Given the description of an element on the screen output the (x, y) to click on. 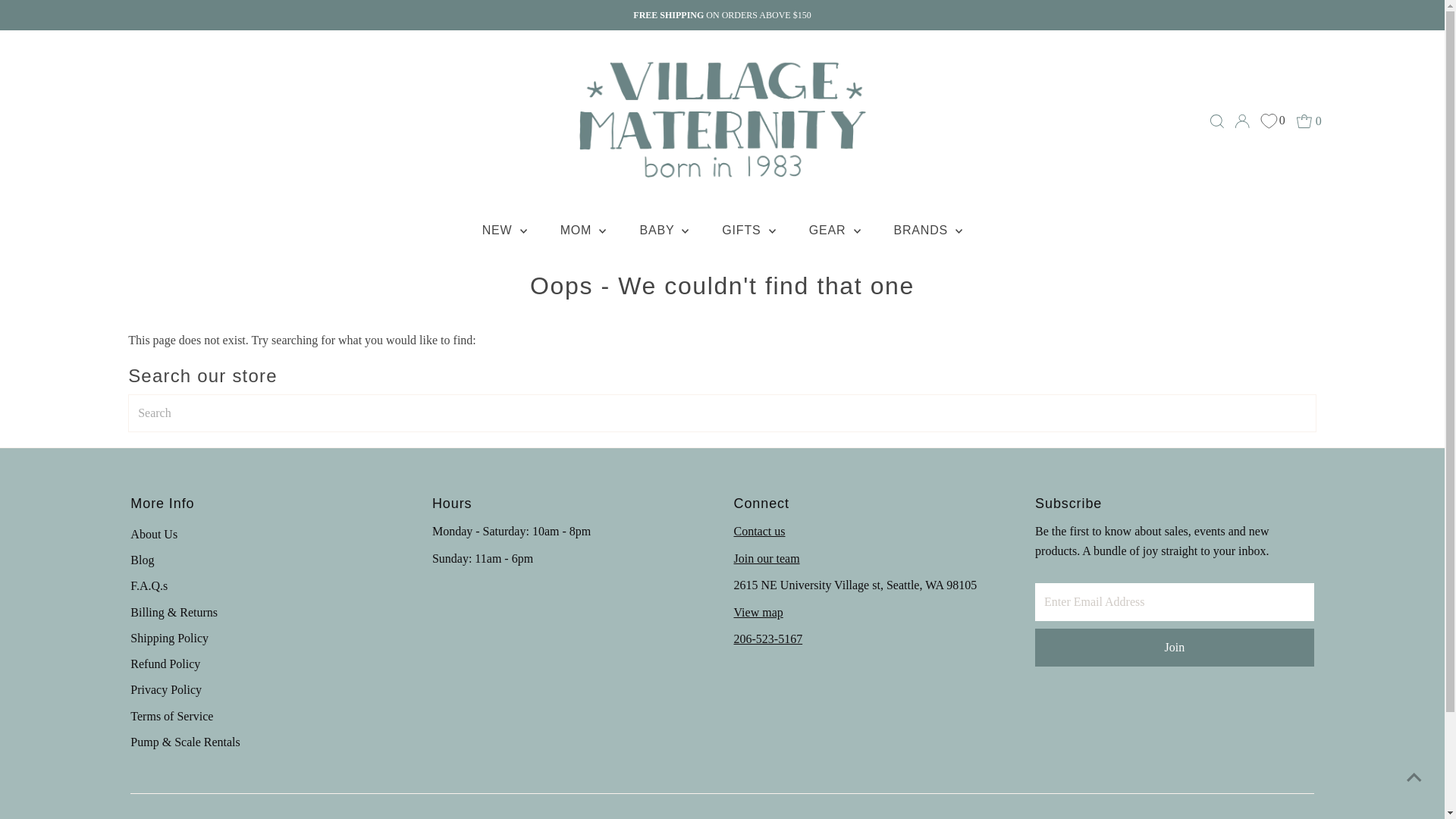
Contact (759, 530)
Skip to content (51, 18)
Village Maternity View Map in Google Maps (758, 612)
0 (1309, 120)
0 (1272, 120)
Join Our Team! (766, 558)
